Given the description of an element on the screen output the (x, y) to click on. 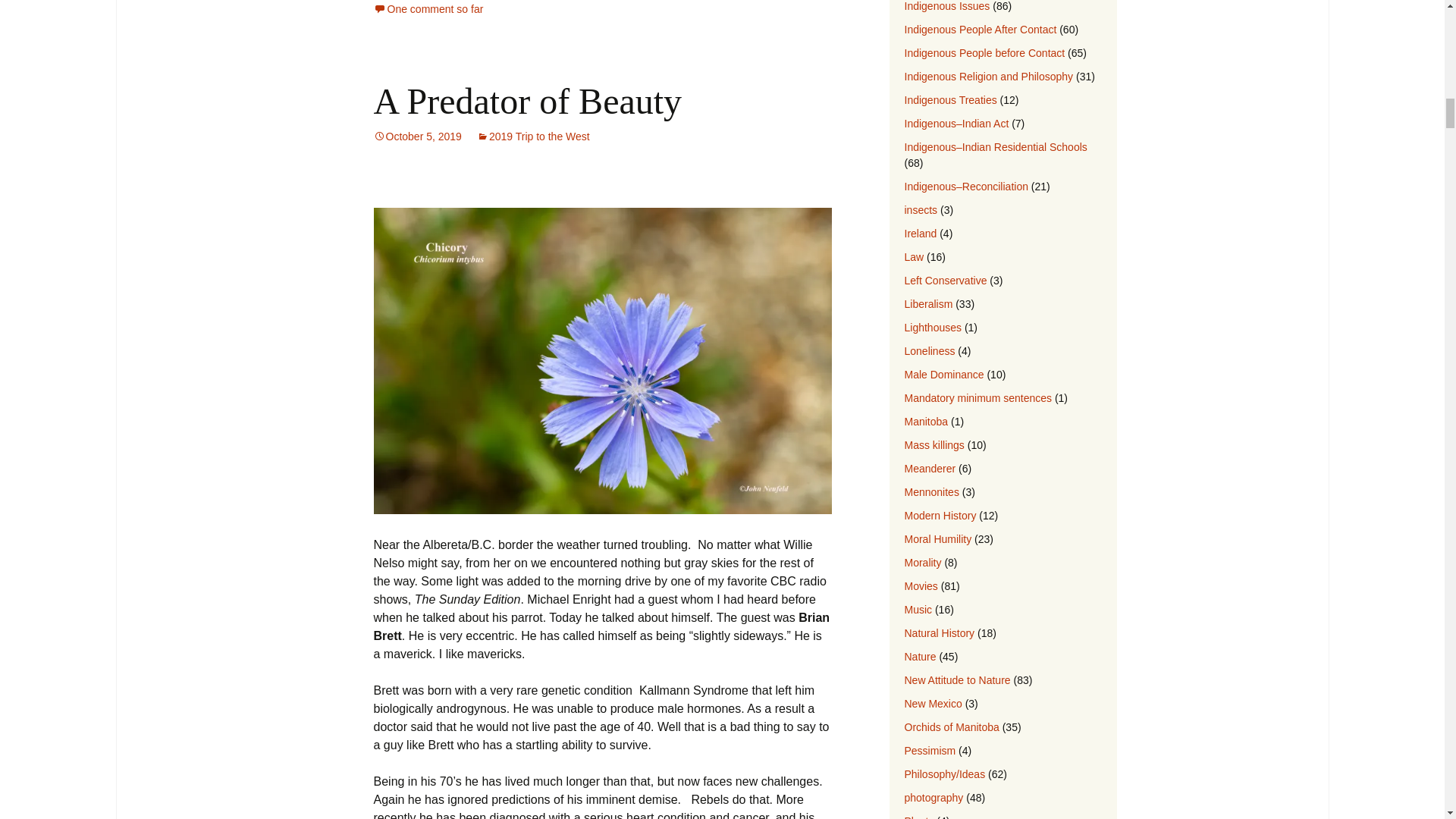
October 5, 2019 (416, 136)
2019 Trip to the West (533, 136)
A Predator of Beauty (526, 101)
Permalink to A Predator of Beauty (416, 136)
One comment so far (427, 9)
